Given the description of an element on the screen output the (x, y) to click on. 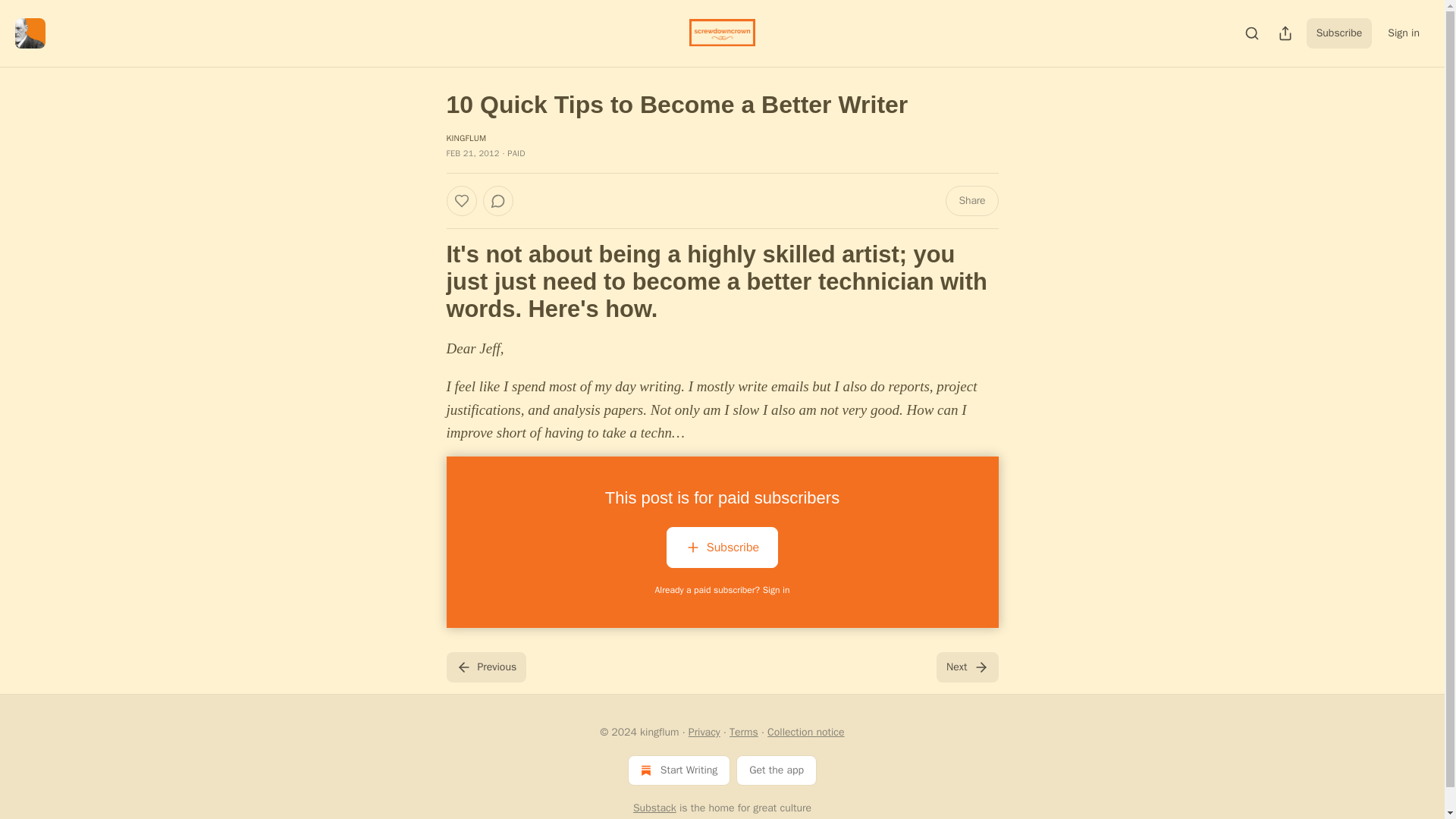
KINGFLUM (465, 137)
Previous (485, 666)
Next (966, 666)
Terms (743, 731)
Collection notice (805, 731)
Subscribe (721, 550)
Get the app (776, 770)
Start Writing (678, 770)
Subscribe (721, 547)
Privacy (704, 731)
